Given the description of an element on the screen output the (x, y) to click on. 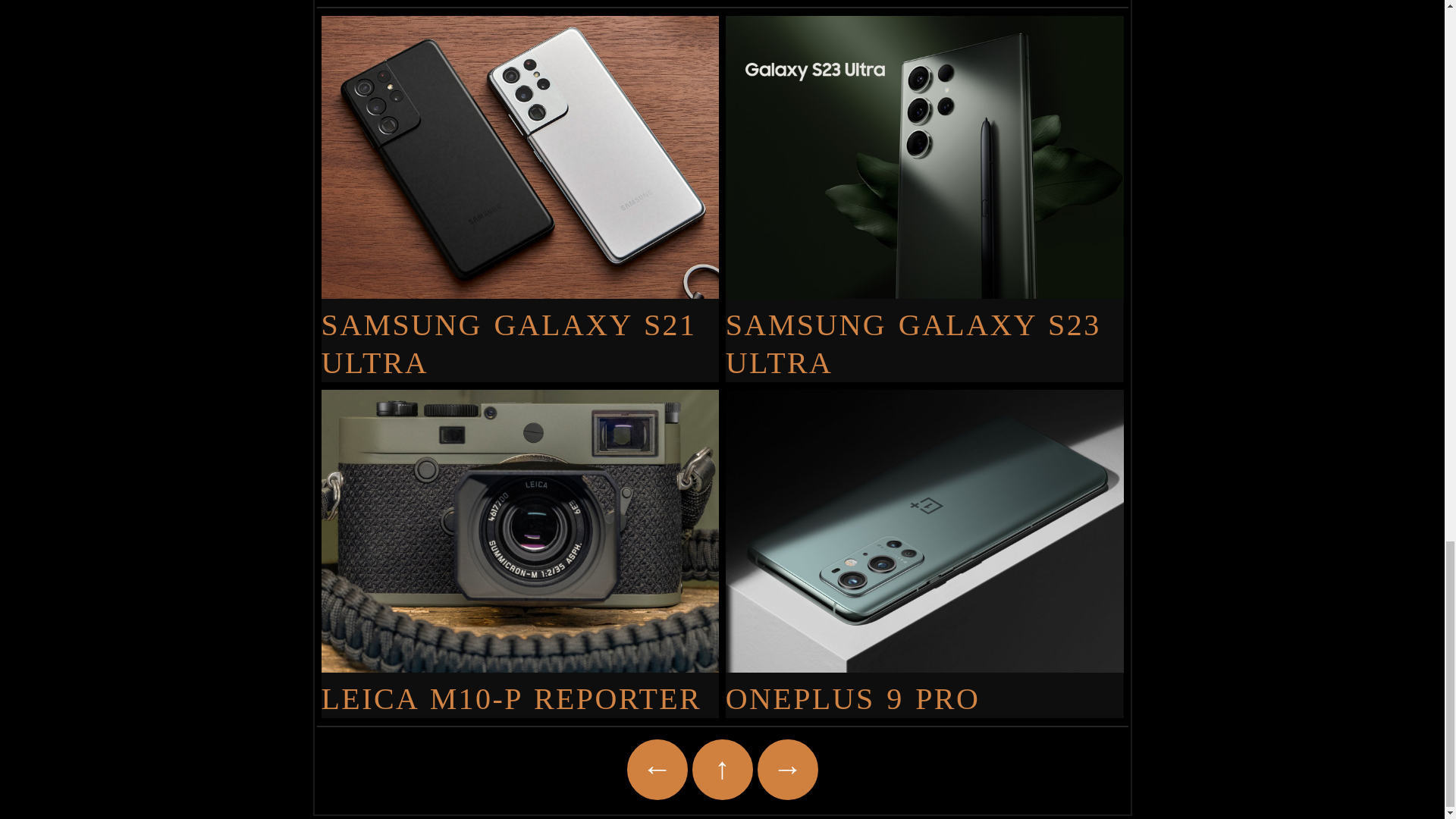
Samsung Galaxy S21 Ultra (520, 333)
LEICA M10-P REPORTER (520, 688)
SAMSUNG GALAXY S23 ULTRA (924, 333)
OnePlus 9 Pro (924, 688)
Leica M10-P Reporter (520, 688)
ONEPLUS 9 PRO (924, 688)
SAMSUNG GALAXY S21 ULTRA (520, 333)
Samsung Galaxy S23 Ultra (924, 333)
